Given the description of an element on the screen output the (x, y) to click on. 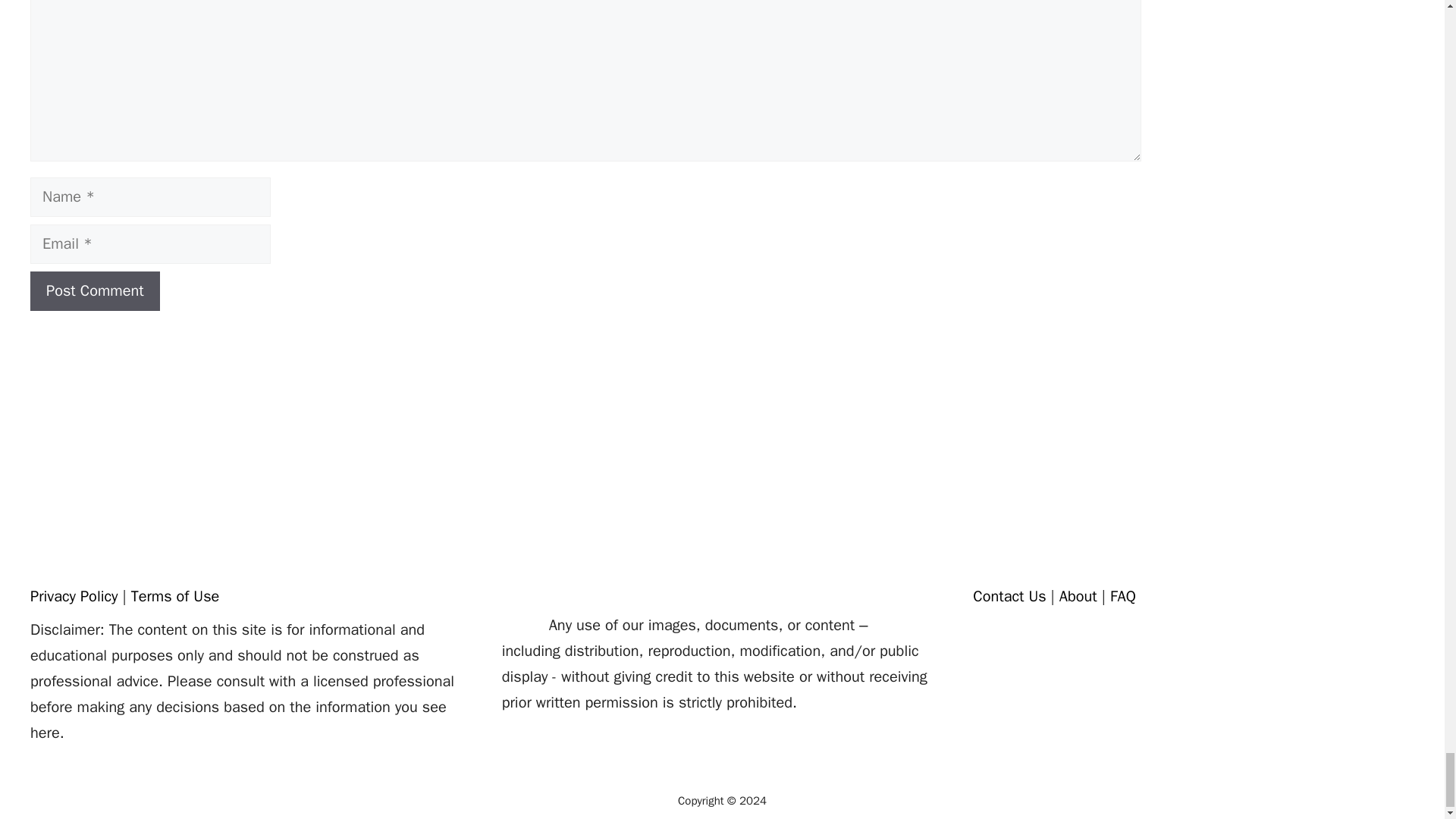
Post Comment (95, 291)
